Given the description of an element on the screen output the (x, y) to click on. 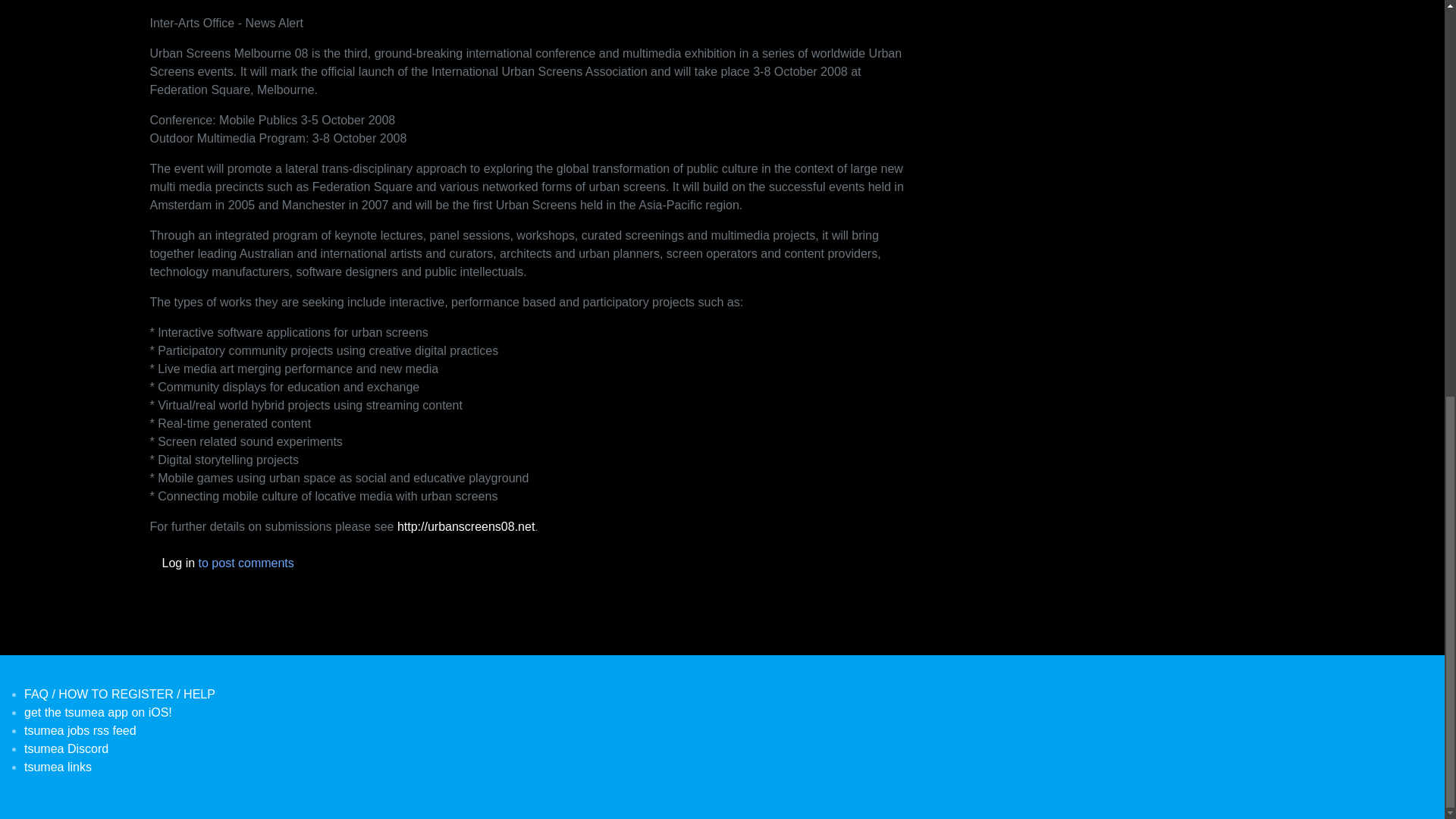
tsumea links (57, 766)
tsumea Discord (65, 748)
Log in (178, 562)
tsumea jobs rss feed (80, 730)
get the tsumea app on iOS! (97, 712)
